Given the description of an element on the screen output the (x, y) to click on. 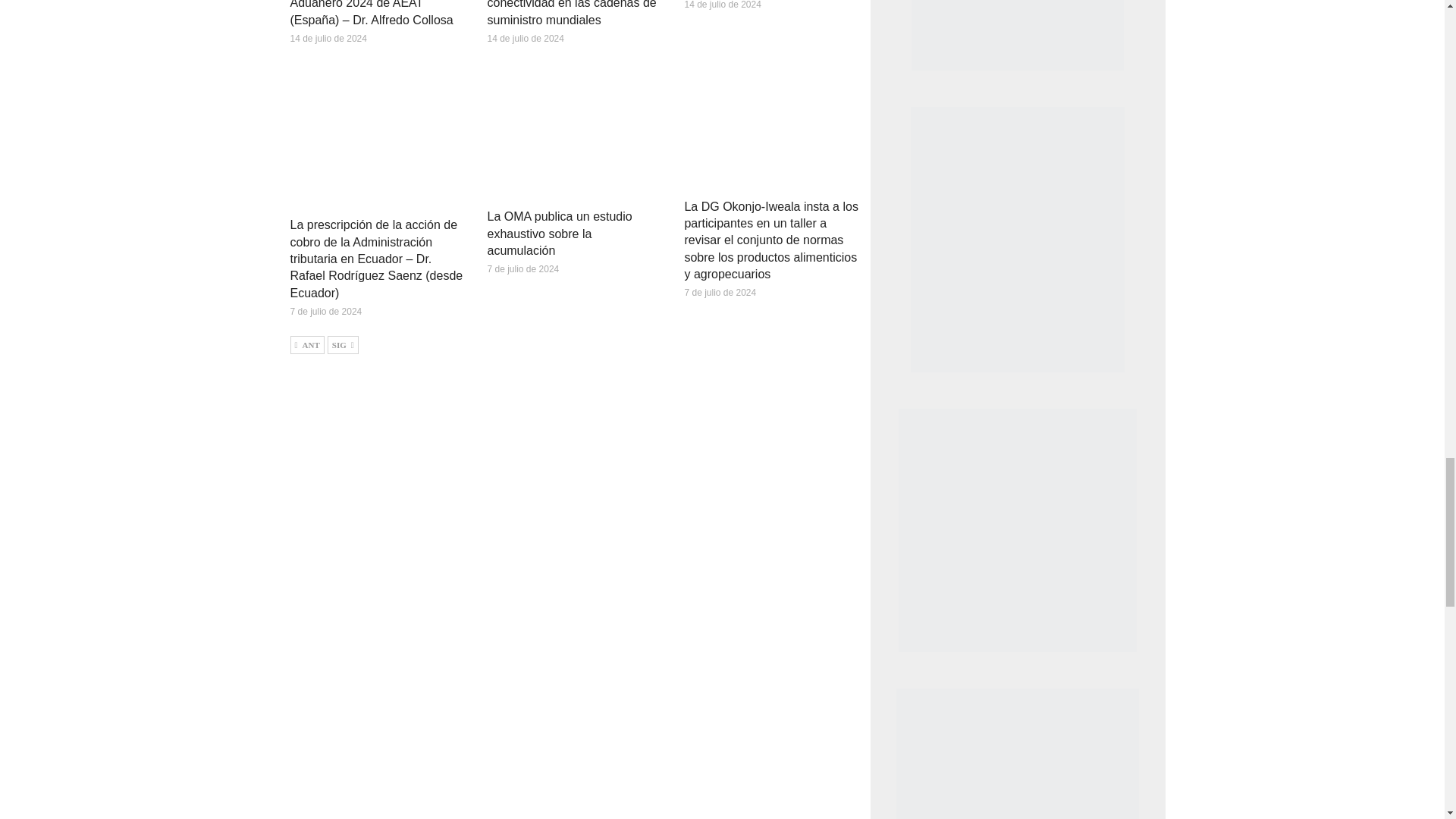
Previous (306, 344)
Sig (342, 344)
